Given the description of an element on the screen output the (x, y) to click on. 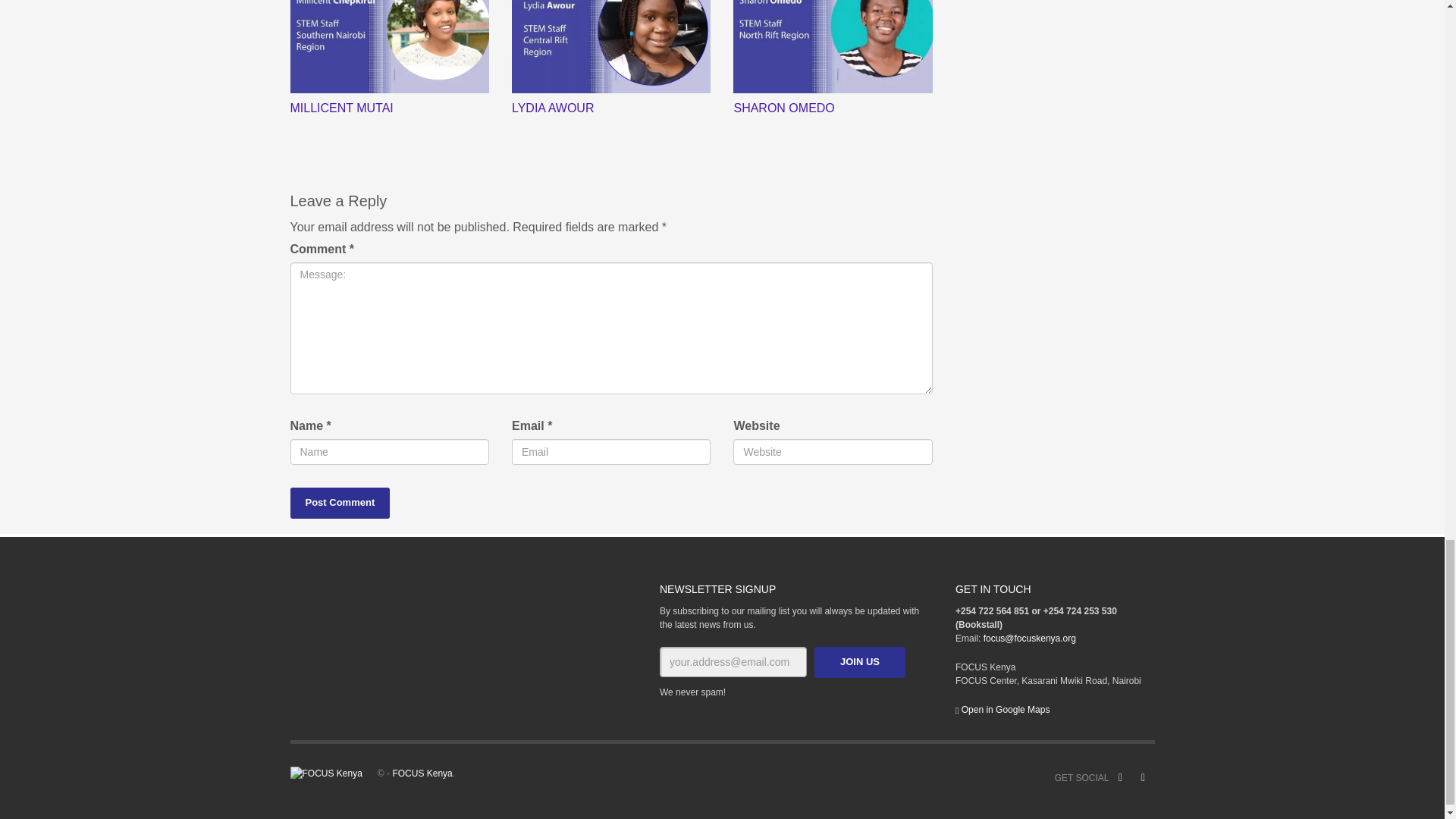
Lydia-Awour (611, 46)
Sharon-Omedo (832, 46)
JOIN US (859, 662)
Milscent (388, 46)
Post Comment (339, 502)
